Given the description of an element on the screen output the (x, y) to click on. 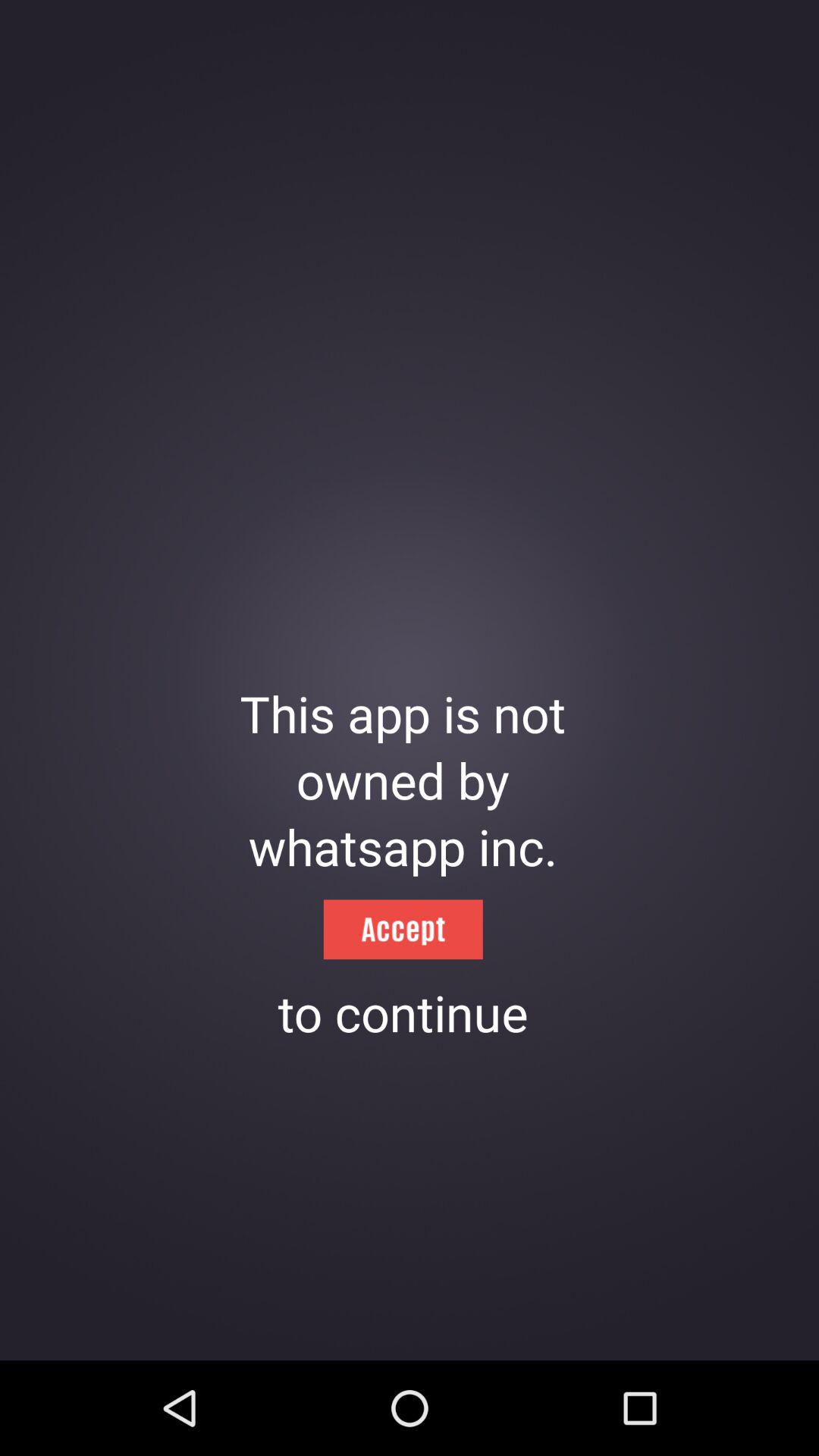
accept conditions (402, 929)
